Given the description of an element on the screen output the (x, y) to click on. 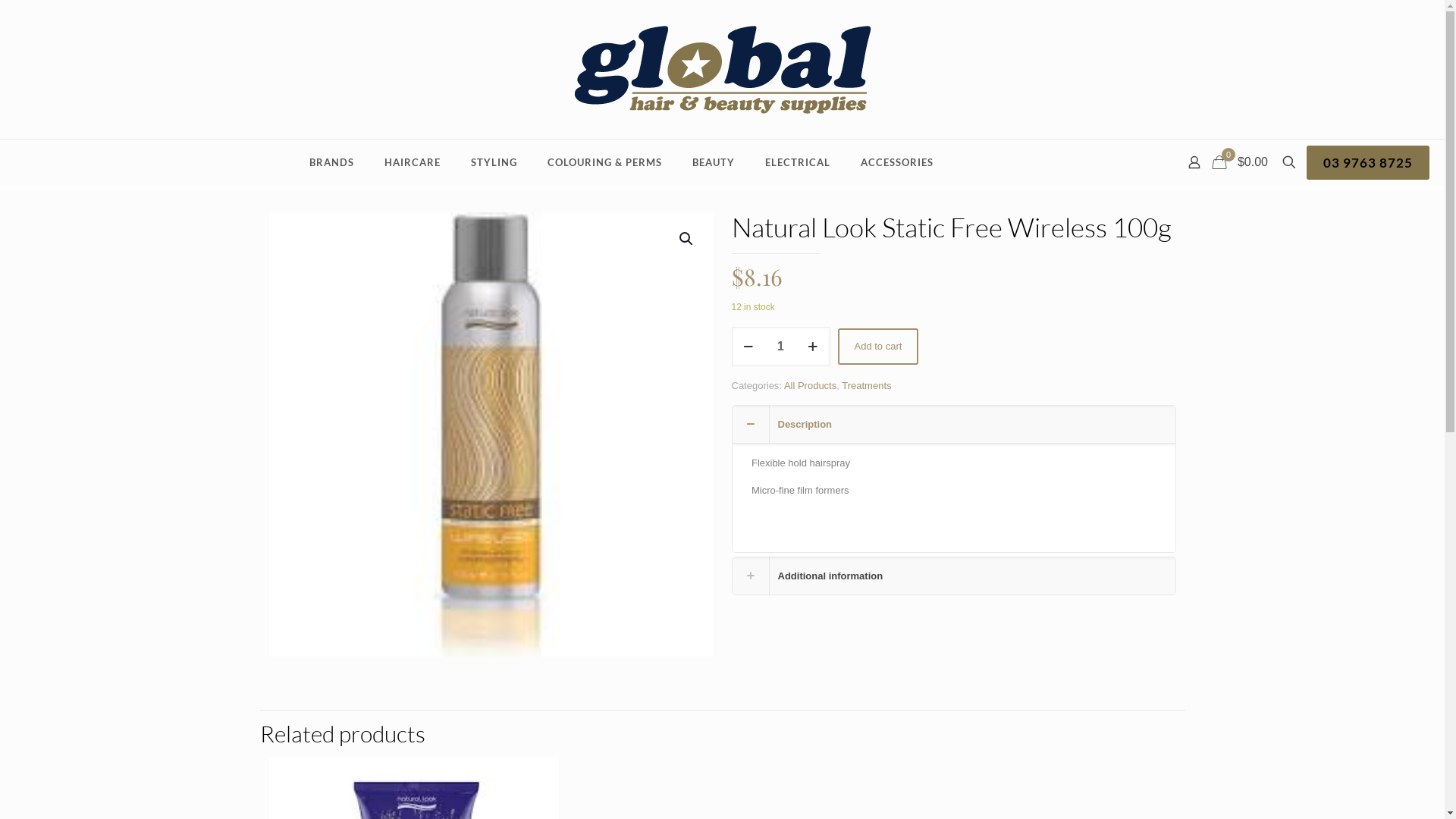
BRANDS Element type: text (331, 162)
STYLING Element type: text (493, 162)
COLOURING & PERMS Element type: text (604, 162)
03 9763 8725 Element type: text (1367, 162)
0
$0.00 Element type: text (1241, 161)
BEAUTY Element type: text (713, 162)
Treatments Element type: text (866, 385)
Add to cart Element type: text (877, 346)
Global Hair & Beauty Supplies Element type: hover (721, 69)
ELECTRICAL Element type: text (797, 162)
HAIRCARE Element type: text (412, 162)
ACCESSORIES Element type: text (896, 162)
Natural Look Static Free Wireless 100g Element type: hover (490, 434)
All Products Element type: text (810, 385)
